Given the description of an element on the screen output the (x, y) to click on. 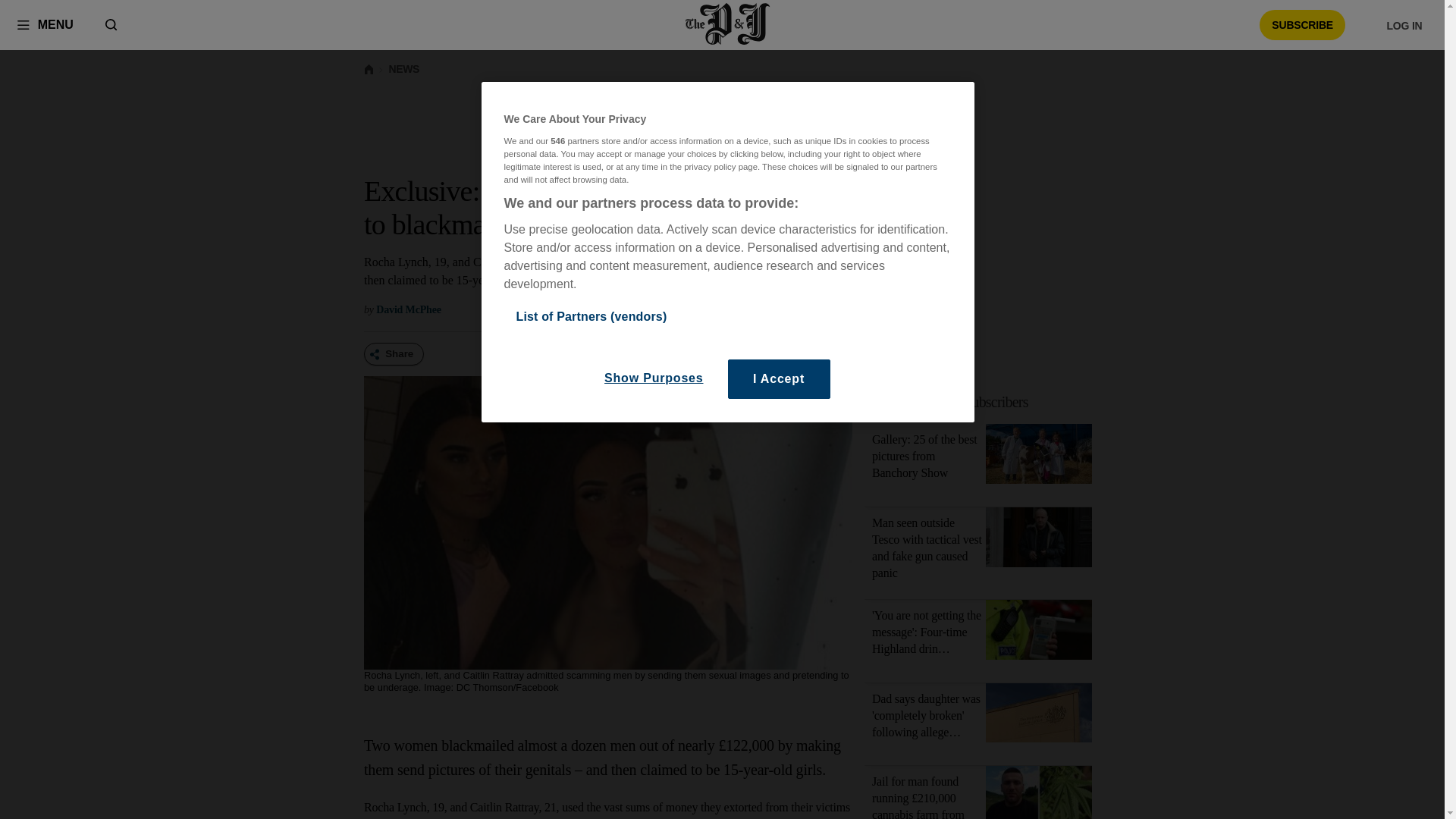
Exclusive to our subscribers (950, 402)
Exclusive to our subscribers (986, 402)
Gallery: 25 of the best pictures from Banchory Show (924, 456)
Gallery: 25 of the best pictures from Banchory Show (1038, 456)
Press and Journal (727, 24)
MENU (44, 24)
